Given the description of an element on the screen output the (x, y) to click on. 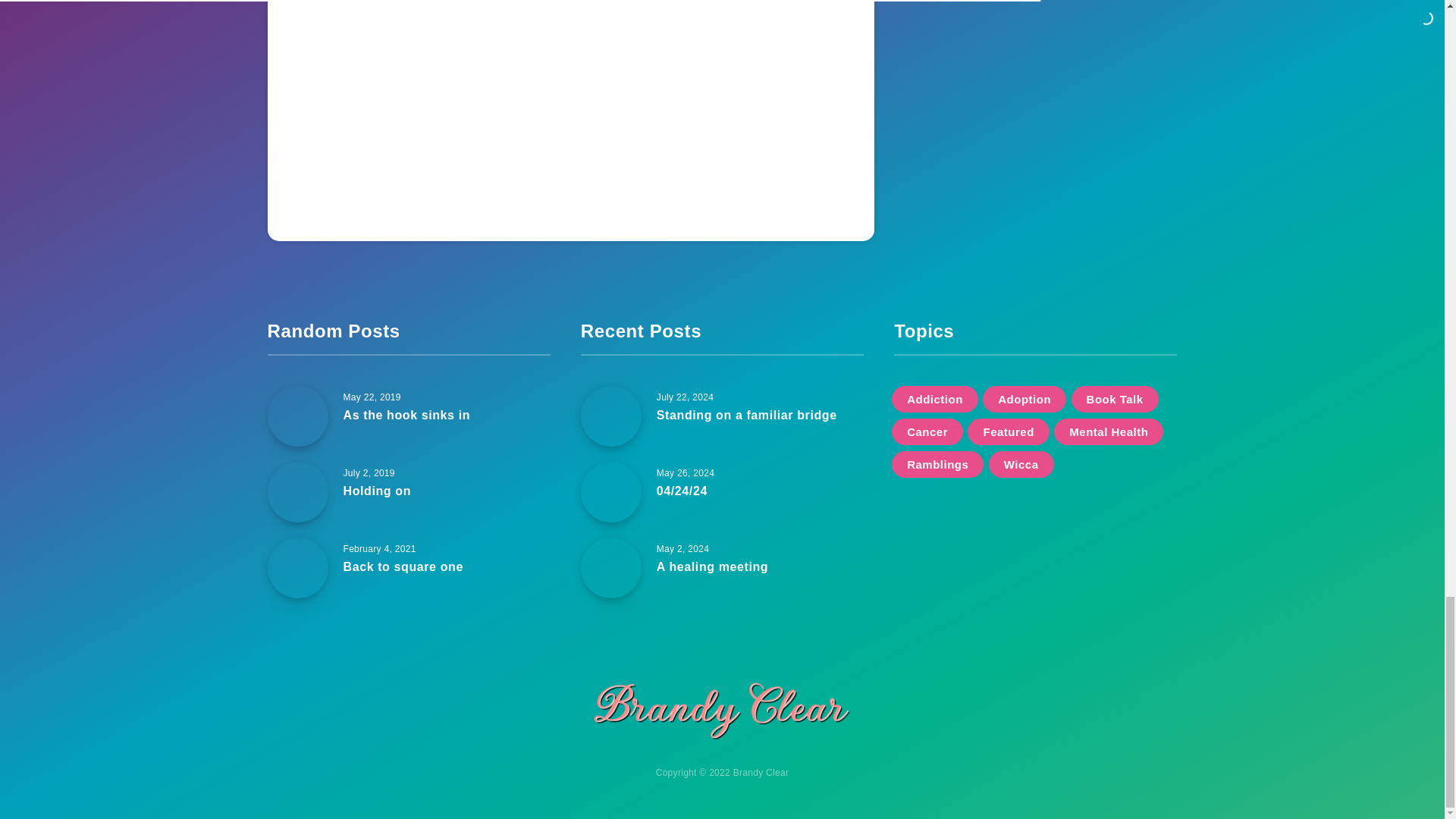
As the hook sinks in (406, 416)
Comment Form (570, 102)
